Given the description of an element on the screen output the (x, y) to click on. 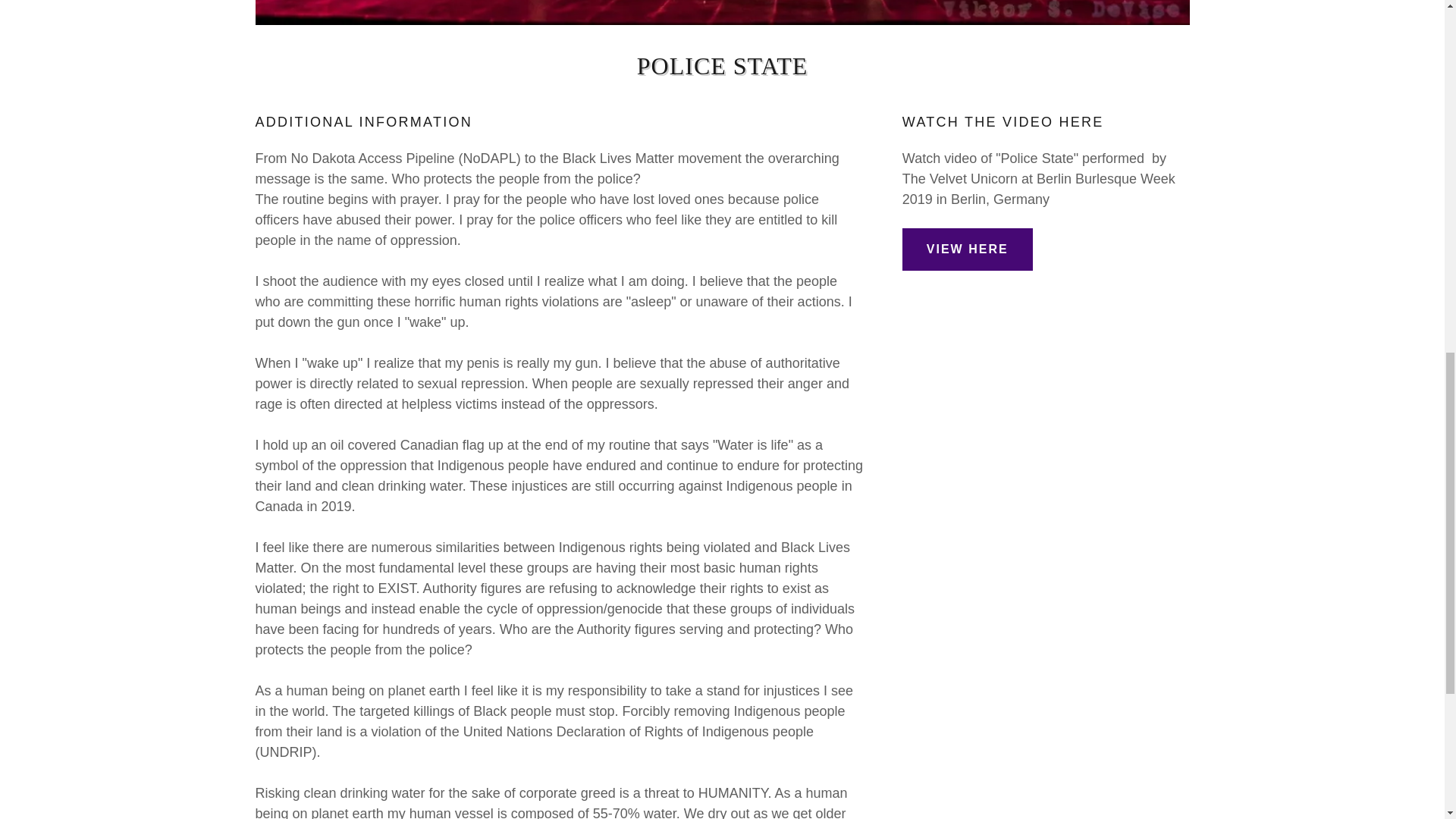
VIEW HERE (967, 249)
